Given the description of an element on the screen output the (x, y) to click on. 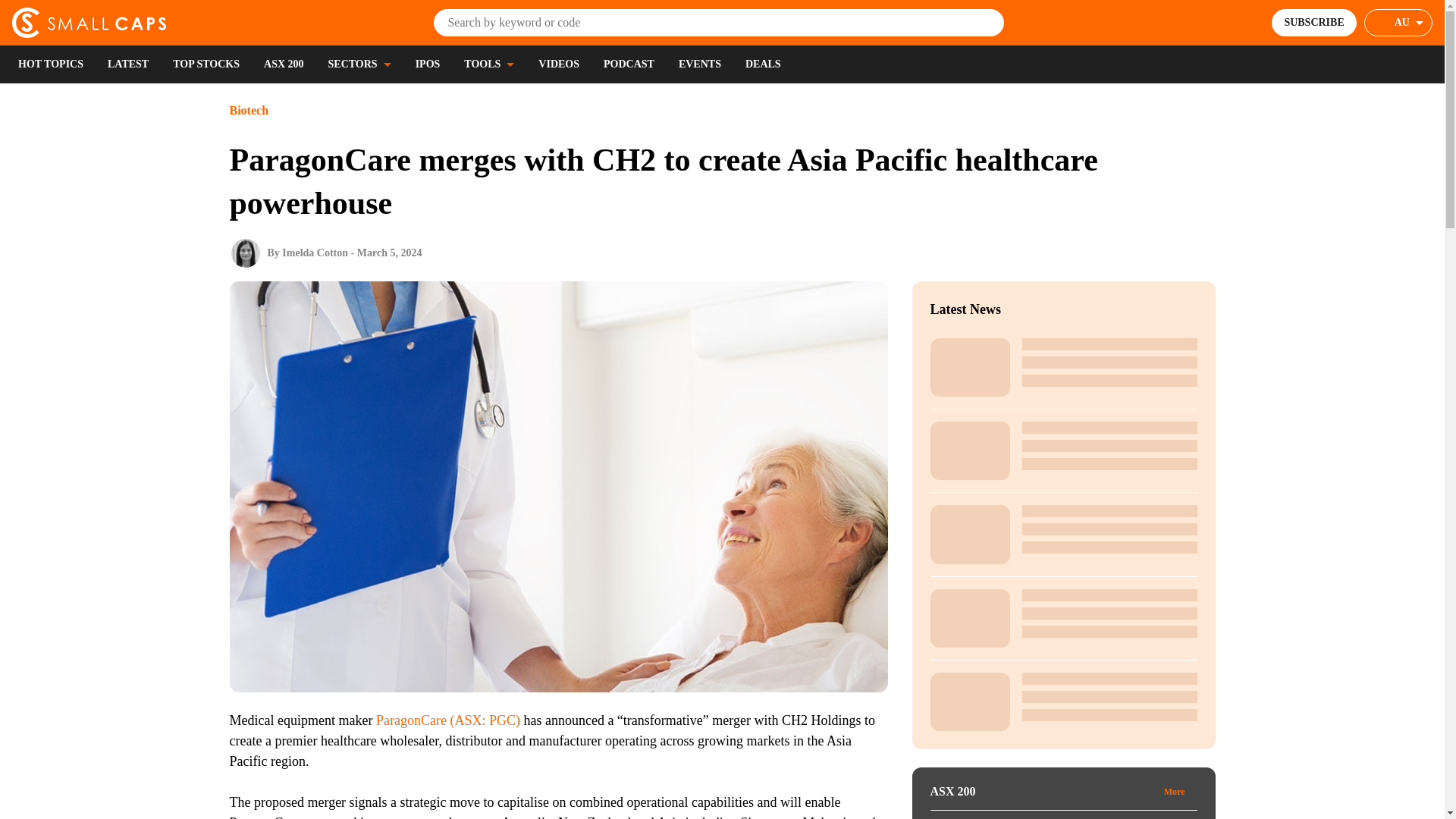
Australia (1408, 22)
HOT TOPICS (49, 63)
LATEST (127, 63)
TOP STOCKS (206, 63)
SECTORS (360, 63)
TOOLS (488, 63)
VIDEOS (558, 63)
SUBSCRIBE (1313, 22)
ASX 200 (283, 63)
AU (1398, 22)
